Given the description of an element on the screen output the (x, y) to click on. 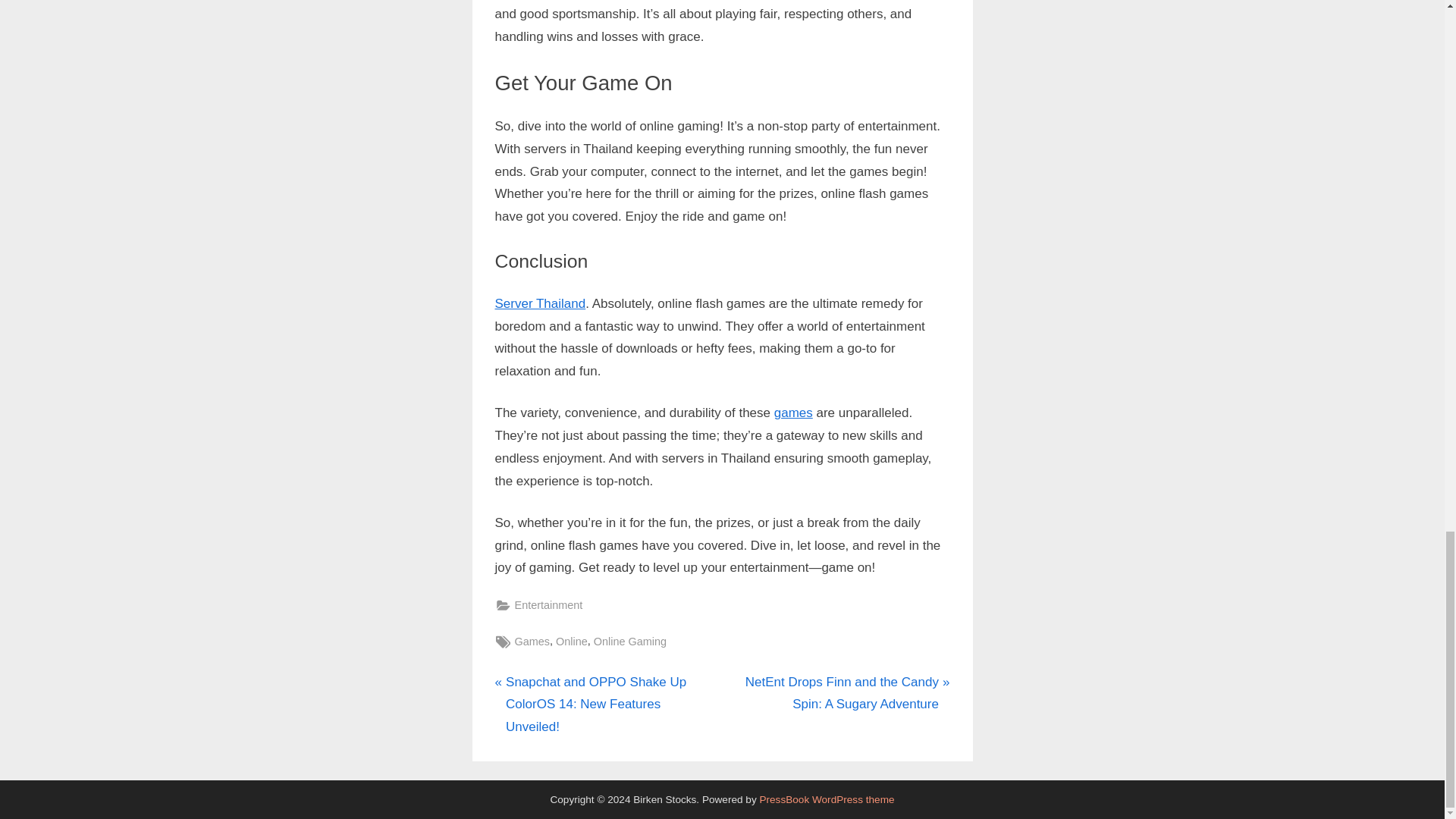
PressBook WordPress theme (825, 799)
games (793, 412)
Games (531, 641)
Entertainment (547, 605)
Server Thailand (540, 303)
Online (572, 641)
Online Gaming (630, 641)
